Given the description of an element on the screen output the (x, y) to click on. 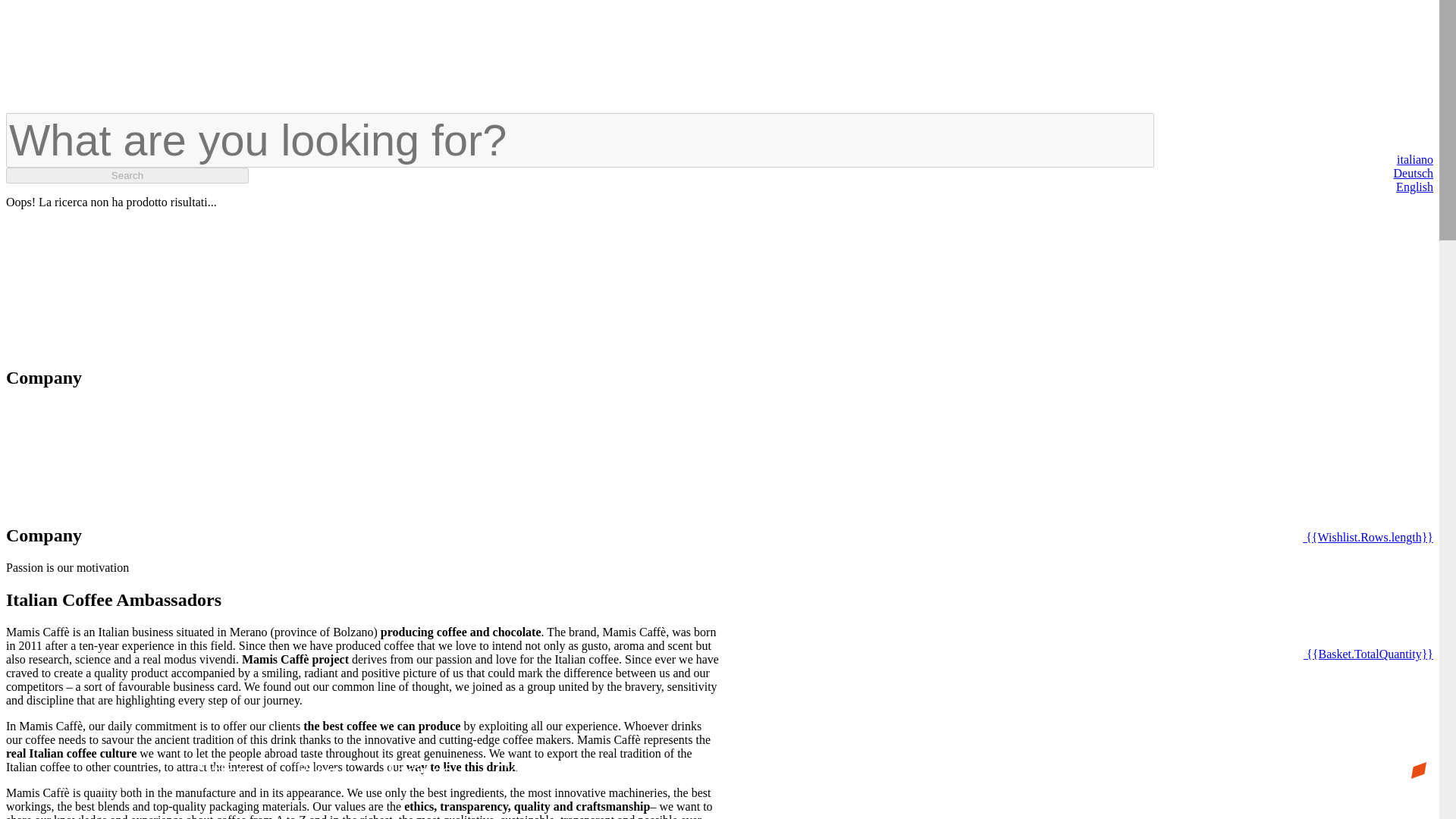
Contact (657, 770)
Offers (223, 770)
Blog (316, 770)
Company (536, 770)
Products (96, 783)
Recipes (416, 770)
Search (126, 175)
